Given the description of an element on the screen output the (x, y) to click on. 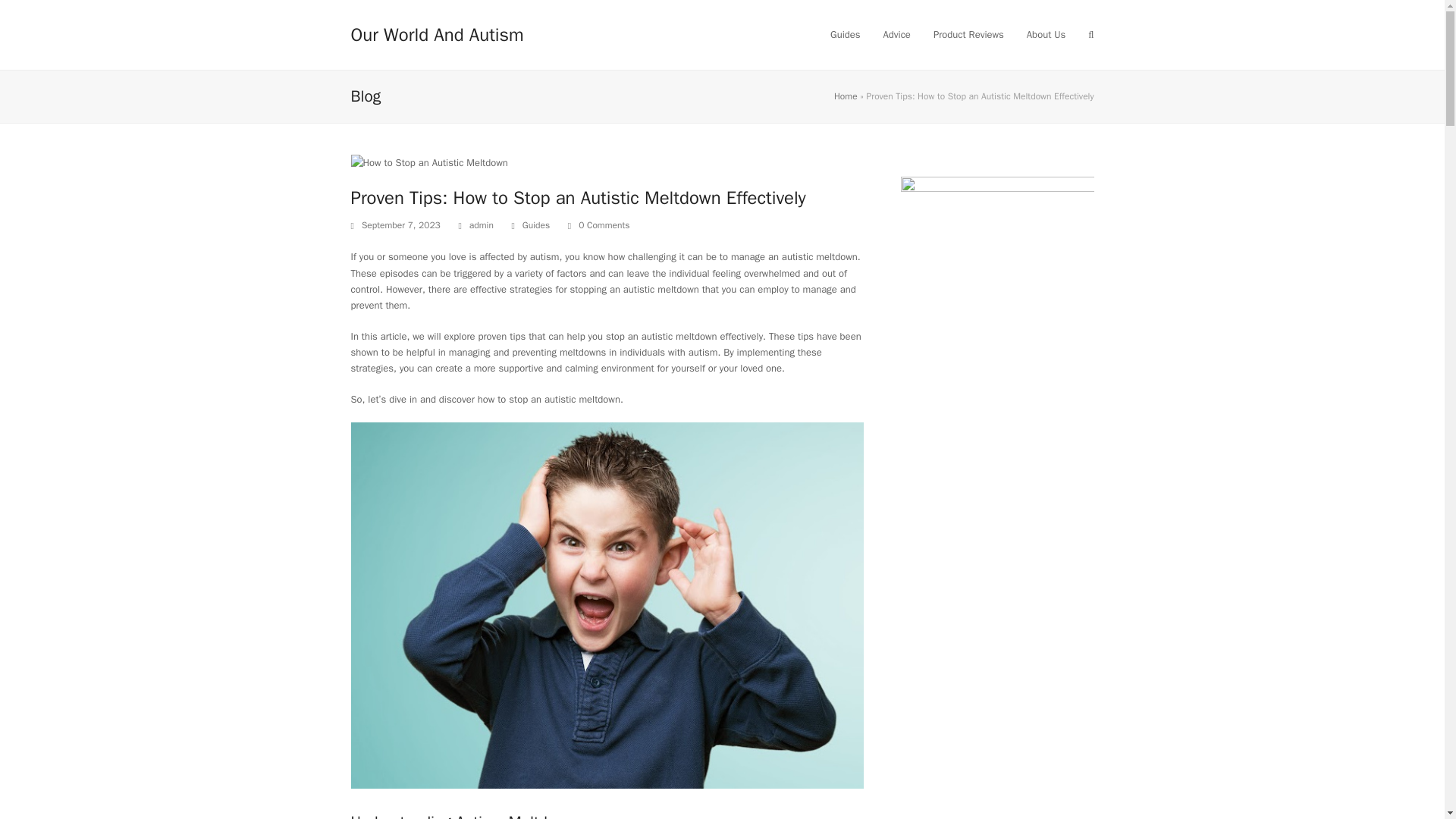
Advice (896, 34)
Guides (844, 34)
0 Comments (603, 225)
Our World And Autism (436, 34)
Product Reviews (967, 34)
Posts by admin (480, 224)
Home (845, 96)
admin (480, 224)
0 Comments (598, 225)
Guides (536, 224)
